Given the description of an element on the screen output the (x, y) to click on. 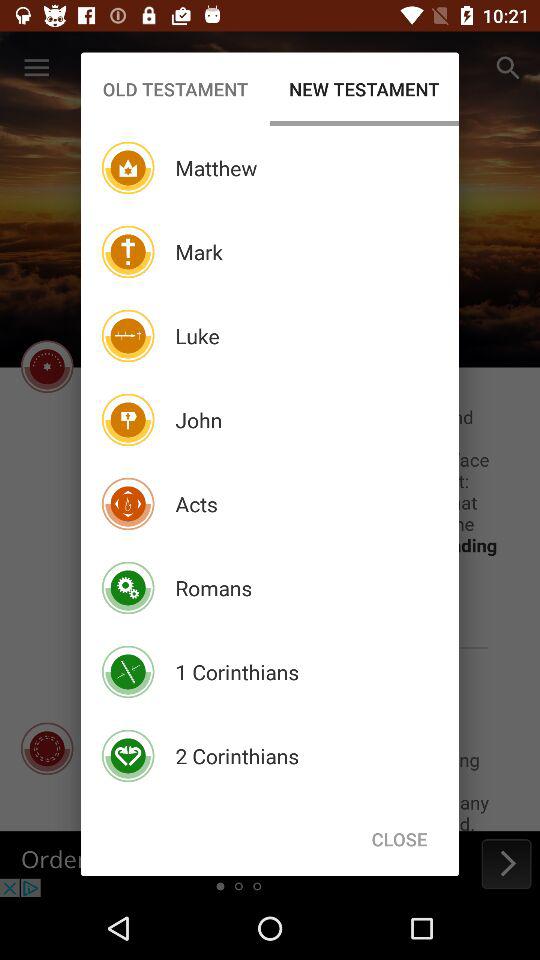
click the item above mark icon (216, 167)
